Given the description of an element on the screen output the (x, y) to click on. 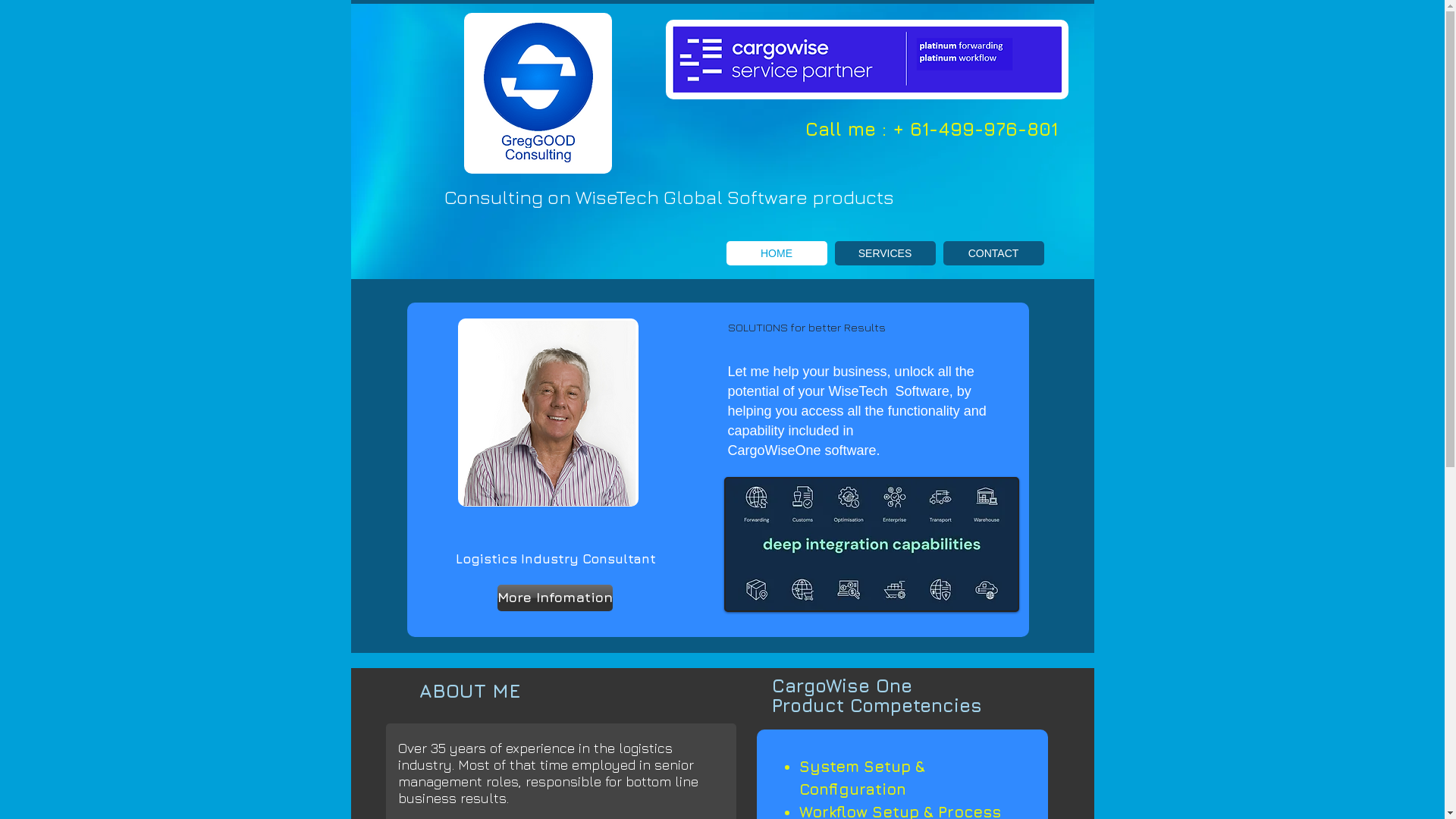
Greg Good Consulting logo Element type: hover (537, 92)
More Infomation Element type: text (554, 597)
SERVICES Element type: text (884, 253)
HOME Element type: text (776, 253)
CONTACT Element type: text (993, 253)
